Given the description of an element on the screen output the (x, y) to click on. 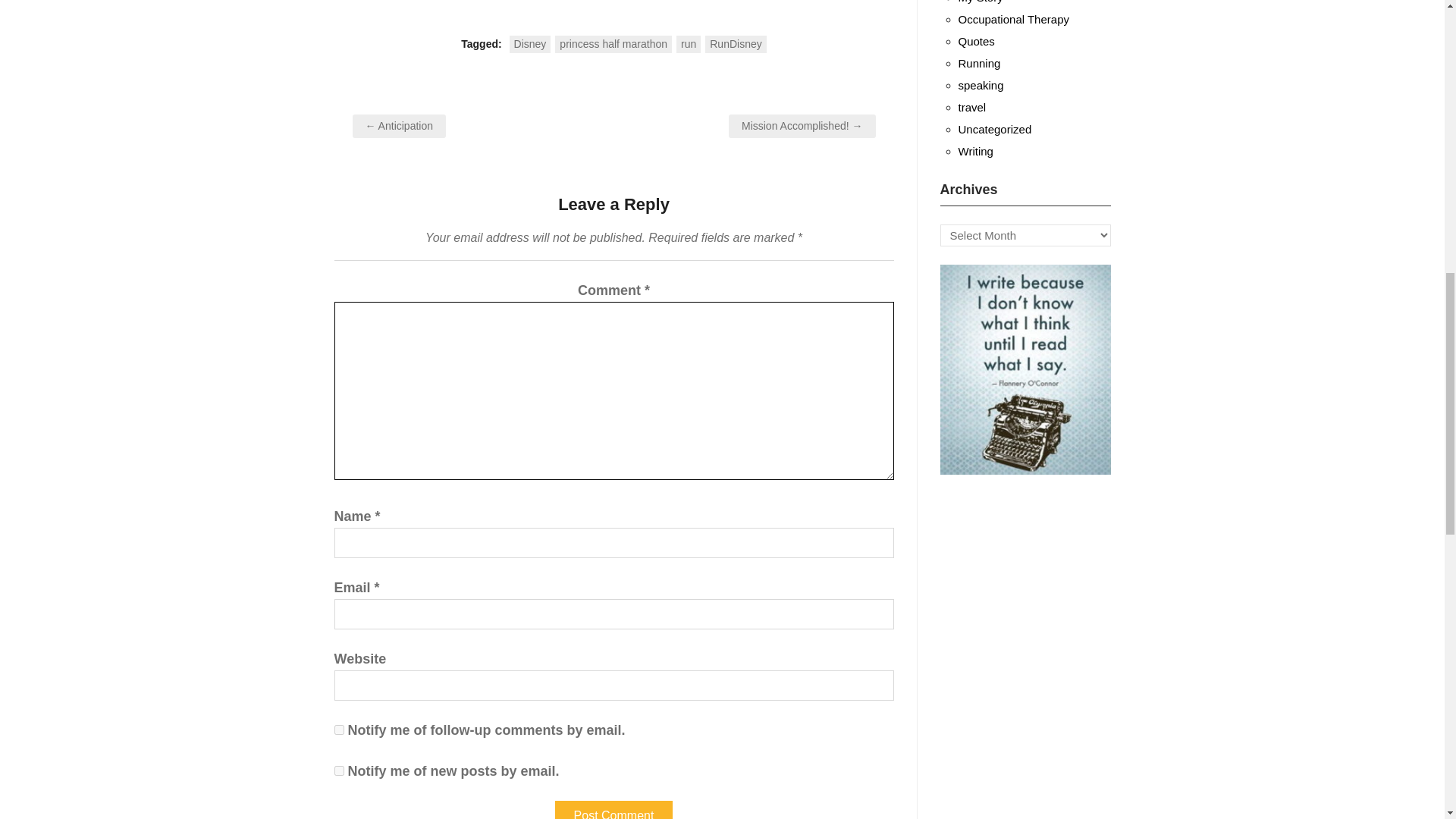
subscribe (338, 770)
princess half marathon (612, 44)
travel (972, 106)
subscribe (338, 729)
Disney (530, 44)
Post Comment (613, 809)
speaking (981, 84)
Running (979, 62)
run (688, 44)
Post Comment (613, 809)
